Given the description of an element on the screen output the (x, y) to click on. 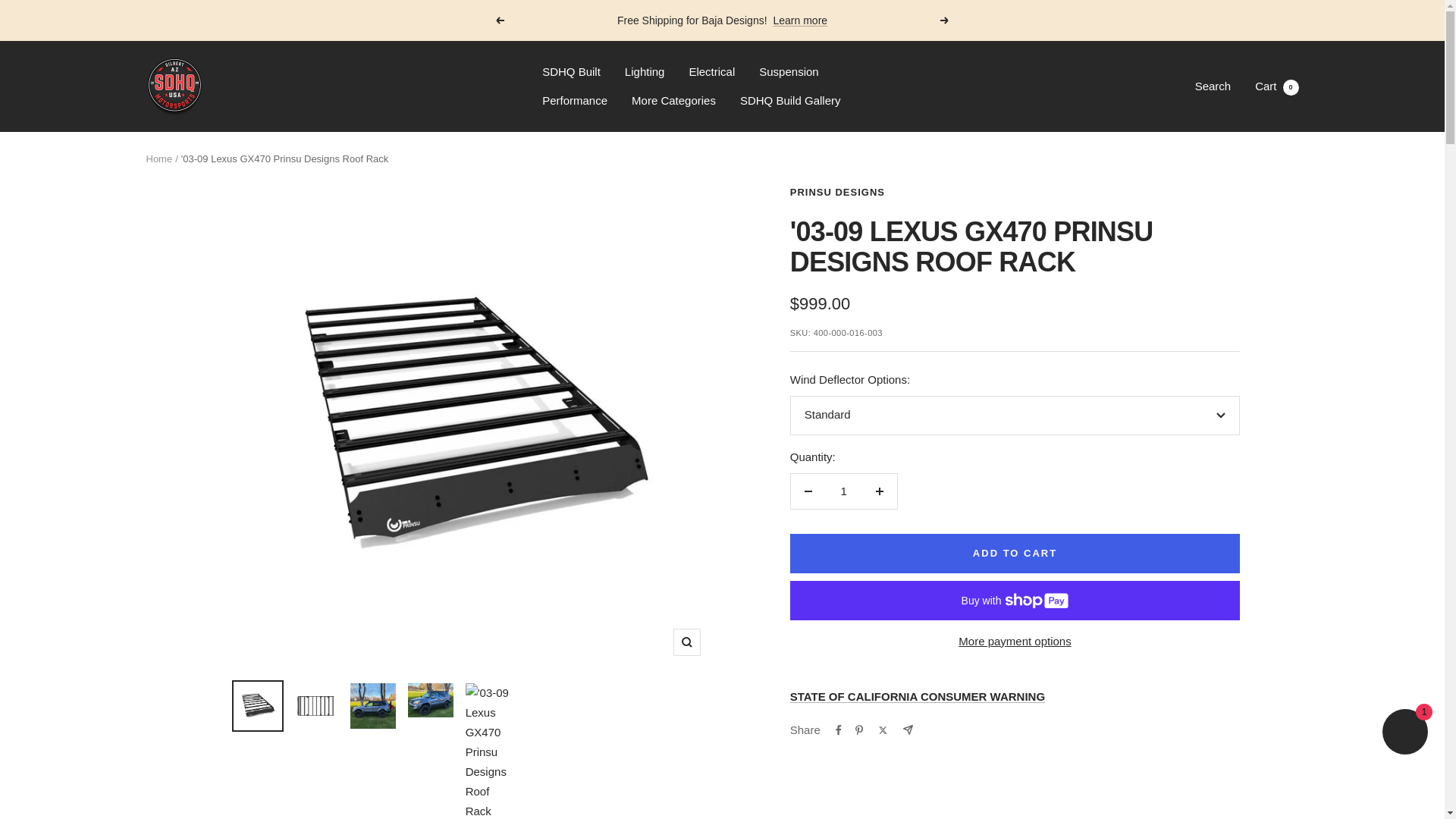
Electrical (711, 71)
Next (944, 20)
Home (1276, 85)
Lighting (158, 158)
Learn more (644, 71)
SDHQ Build Gallery (800, 20)
1 (790, 100)
More Categories (843, 491)
Previous (673, 100)
Zoom (499, 20)
Performance (686, 642)
Suspension (574, 100)
SDHQ Built (788, 71)
SDHQ (570, 71)
